Given the description of an element on the screen output the (x, y) to click on. 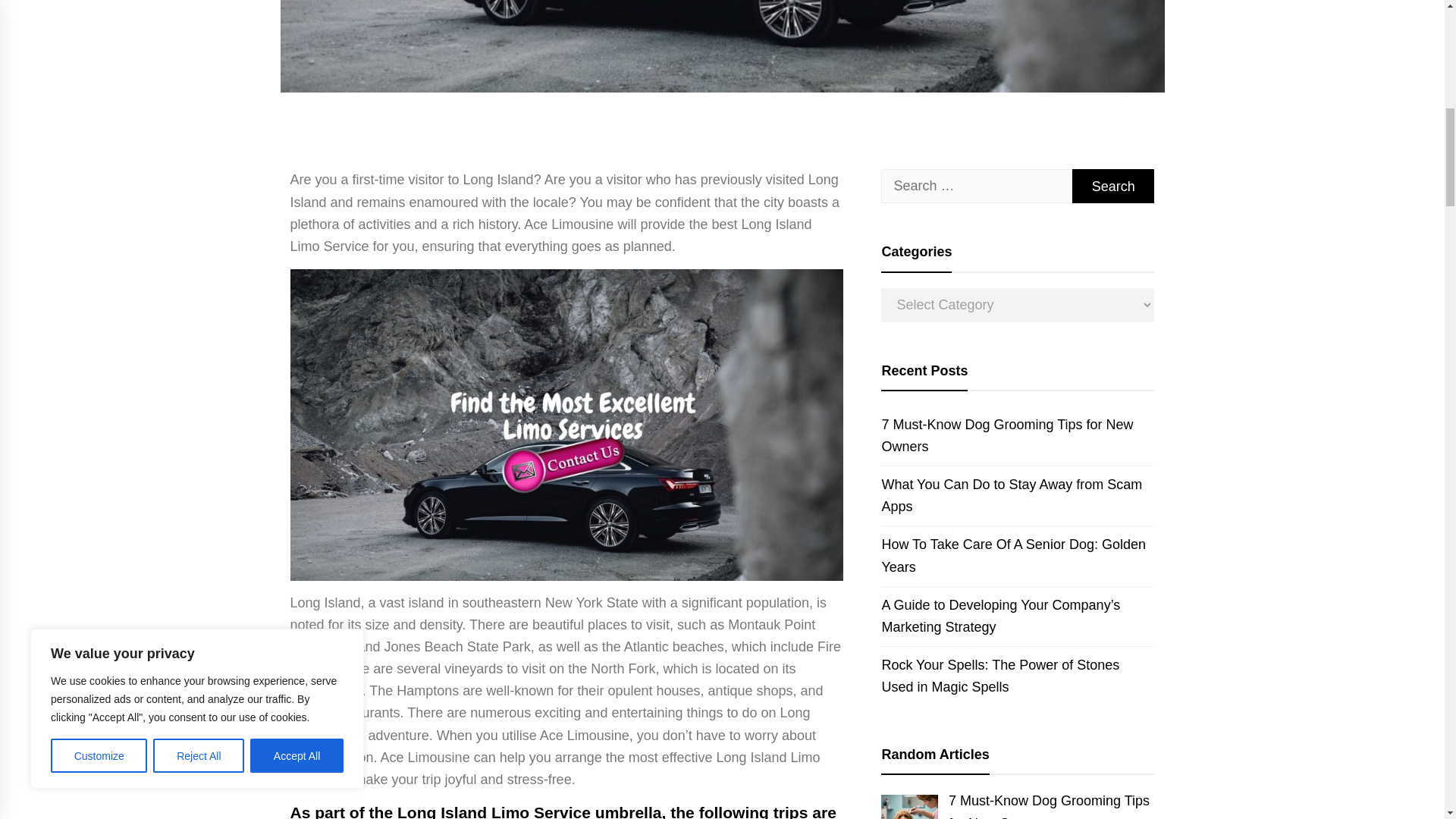
Search (1112, 185)
Search (1112, 185)
Search (1112, 185)
